Given the description of an element on the screen output the (x, y) to click on. 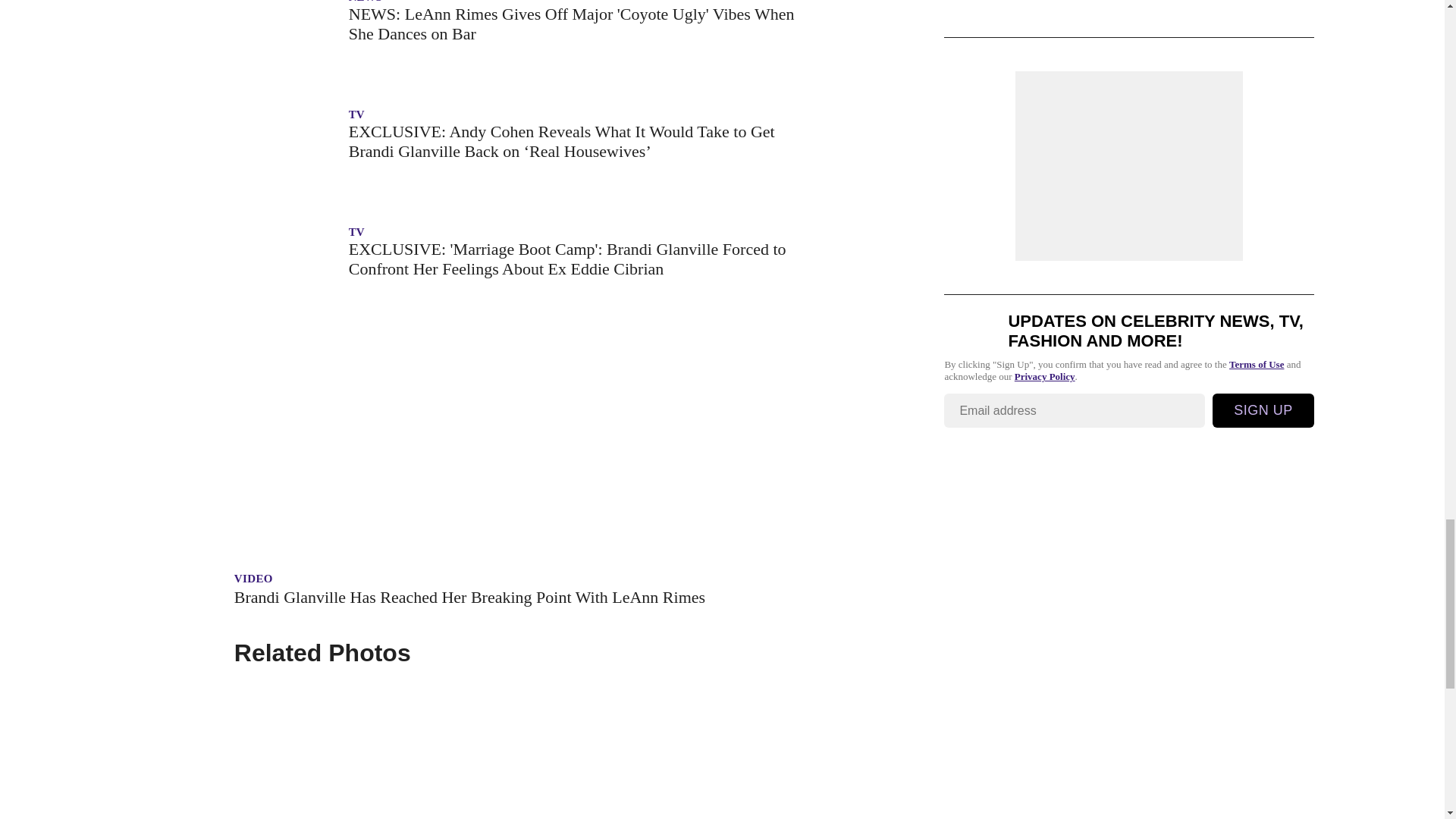
9 Photos (519, 748)
